Given the description of an element on the screen output the (x, y) to click on. 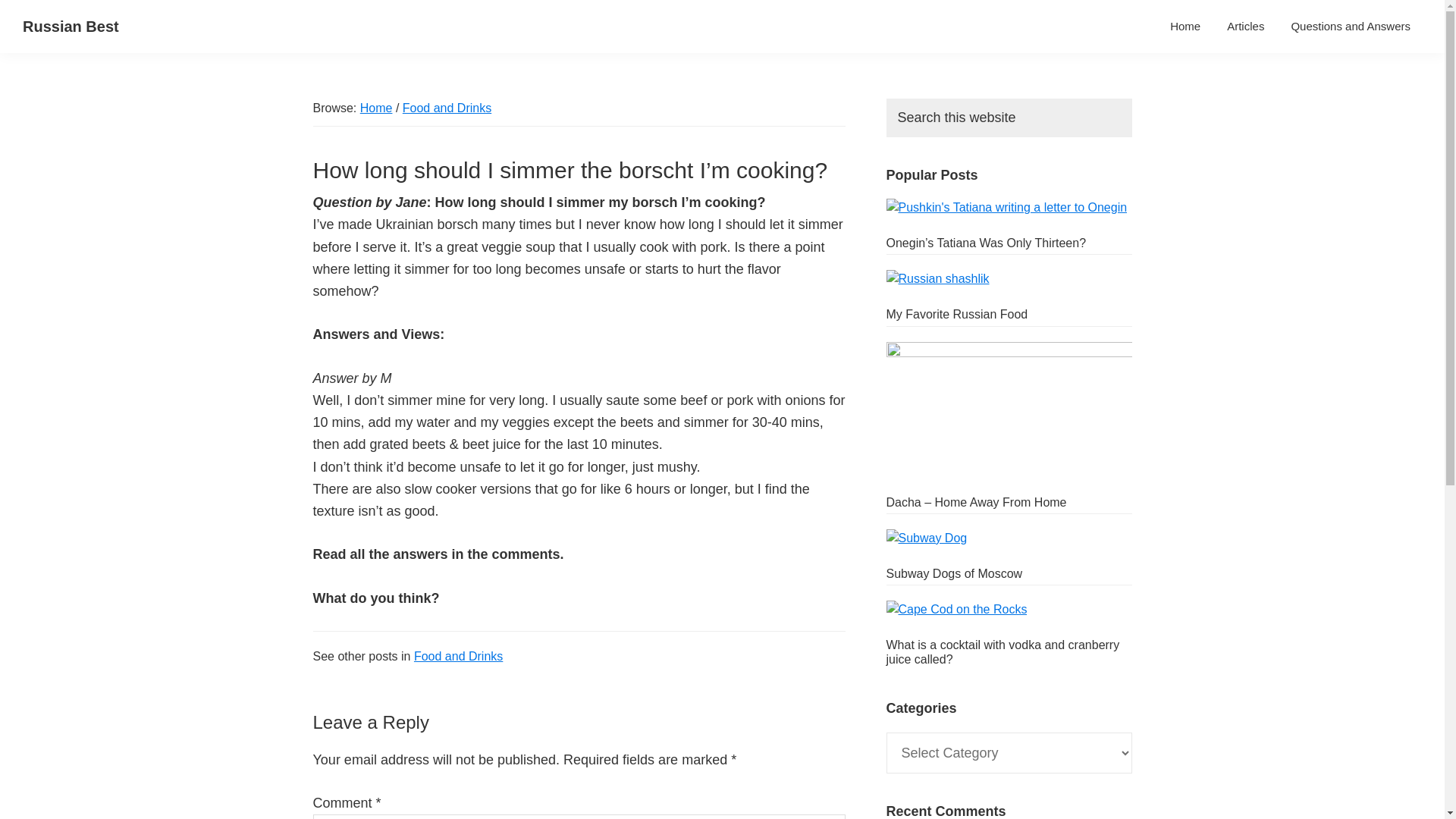
Food and Drinks (457, 656)
Food and Drinks (447, 107)
Articles (1245, 25)
My Favorite Russian Food (956, 314)
Russian Best (71, 26)
Home (1184, 25)
What is a cocktail with vodka and cranberry juice called? (1002, 651)
Subway Dogs of Moscow (953, 573)
